Given the description of an element on the screen output the (x, y) to click on. 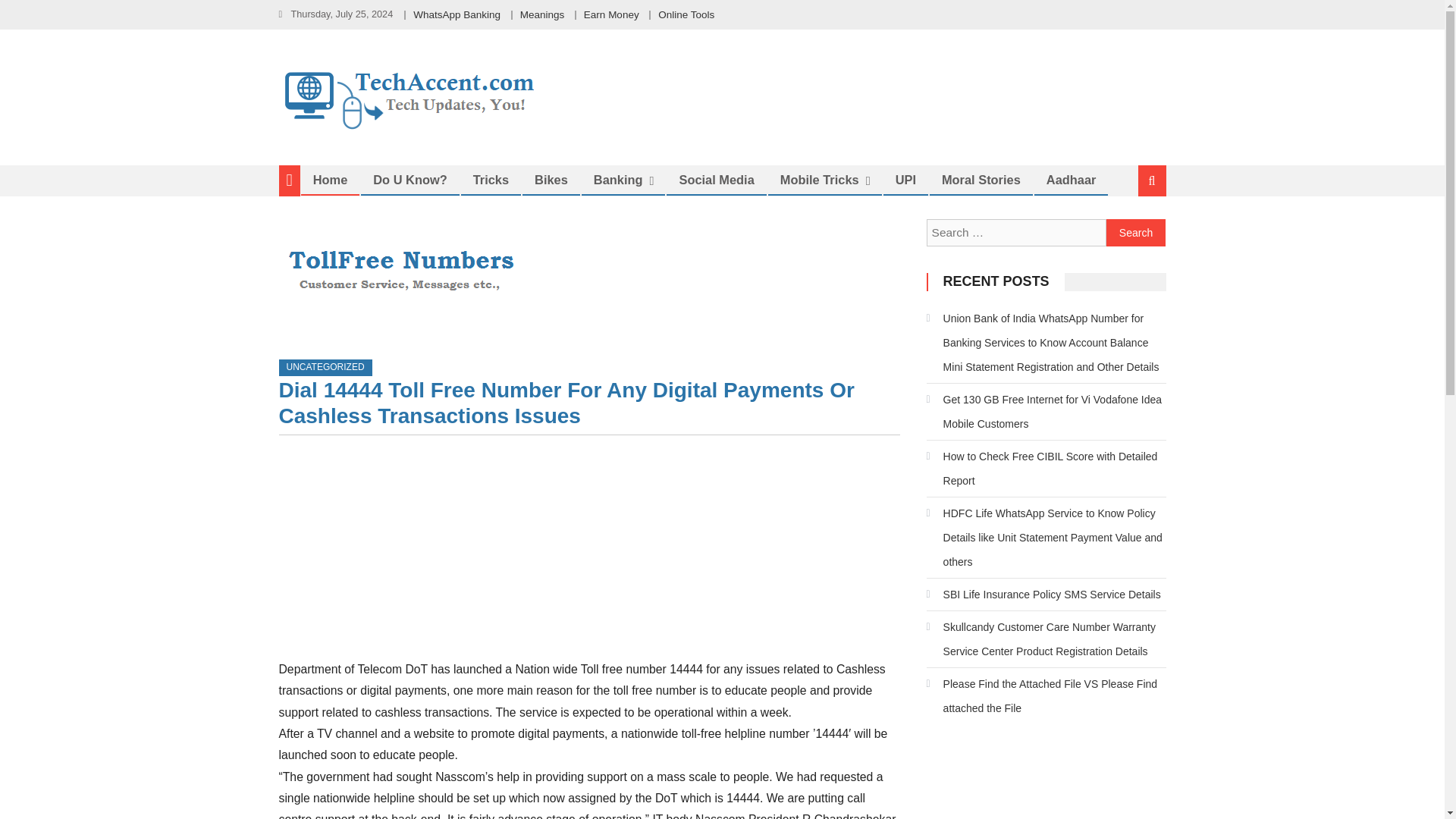
Advertisement (589, 552)
Social Media (715, 179)
Earn Money (611, 14)
Search (1136, 232)
Mobile Tricks (819, 179)
Do U Know? (409, 179)
Aadhaar (1071, 179)
Bikes (550, 179)
Search (1136, 232)
Online Tools (686, 14)
Meanings (541, 14)
Banking (617, 179)
UPI (905, 179)
Home (330, 179)
